Given the description of an element on the screen output the (x, y) to click on. 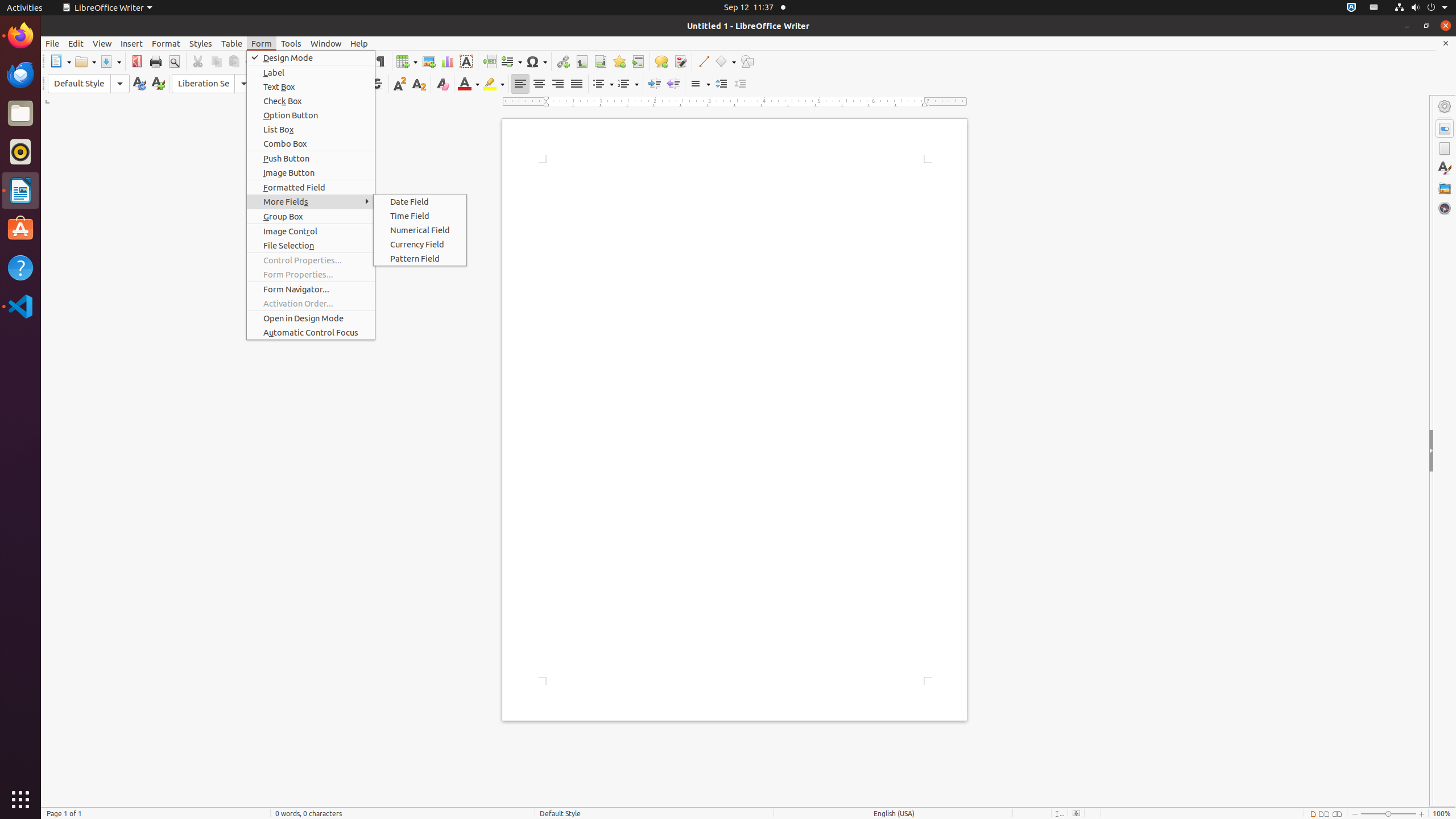
Print Preview Element type: toggle-button (173, 61)
Copy Element type: push-button (216, 61)
